Given the description of an element on the screen output the (x, y) to click on. 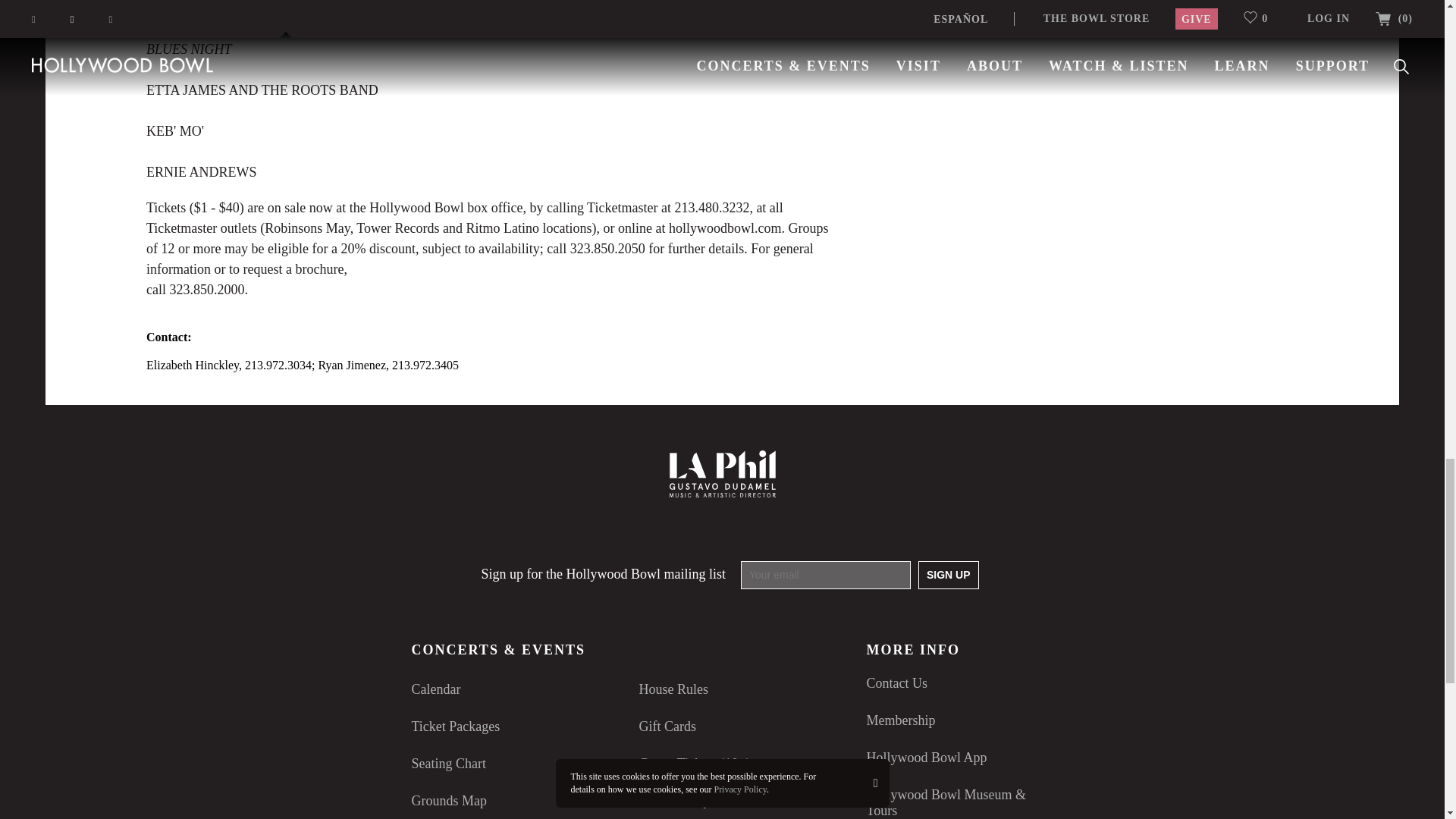
Sign Up (948, 574)
